Given the description of an element on the screen output the (x, y) to click on. 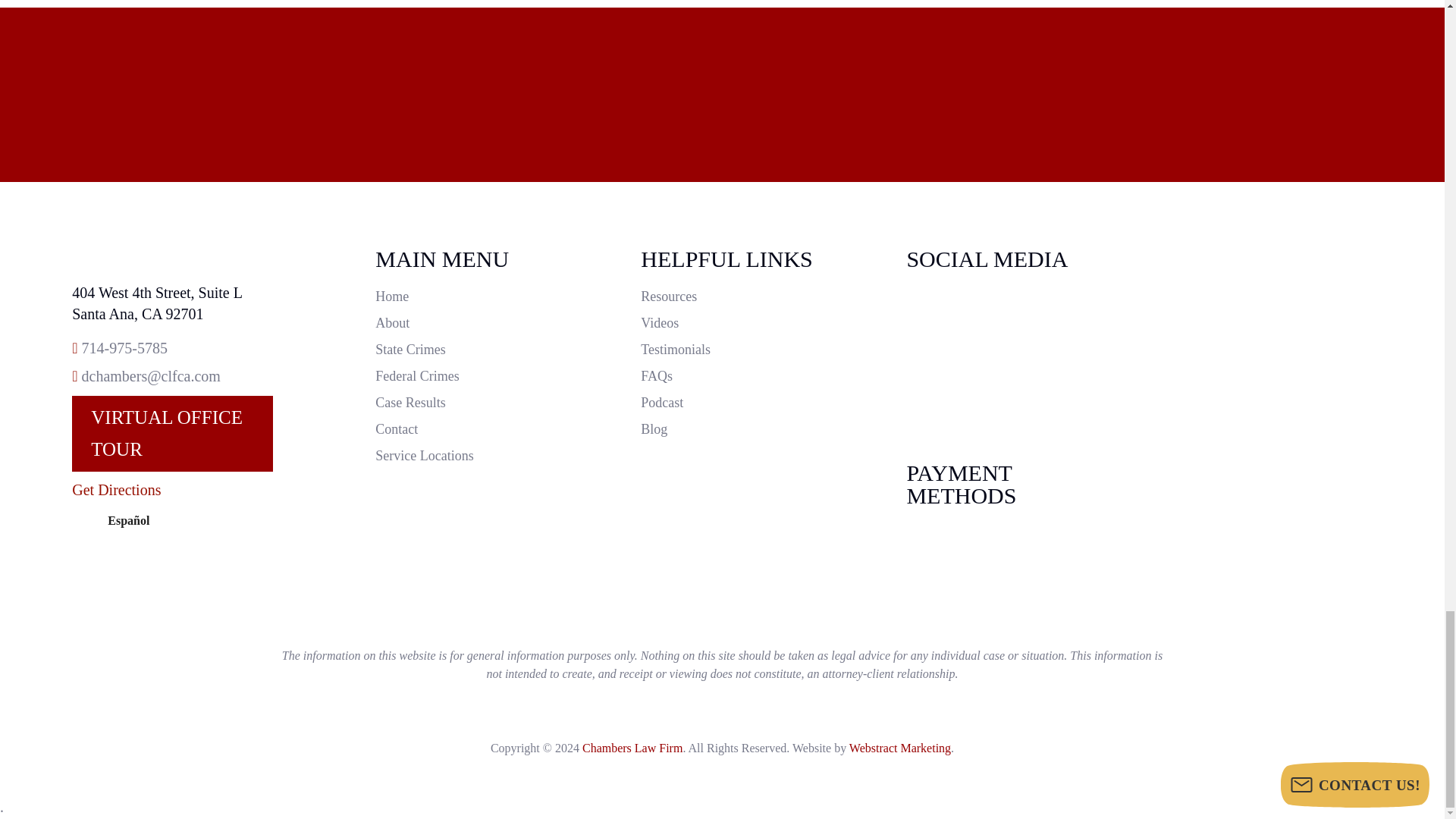
Email (151, 375)
Chambers Law Firm (171, 256)
Facebook (1009, 355)
Get Directions (115, 489)
TikTok (1009, 329)
Avvo (1009, 381)
Yelp (1009, 406)
Instagram (1009, 303)
